Given the description of an element on the screen output the (x, y) to click on. 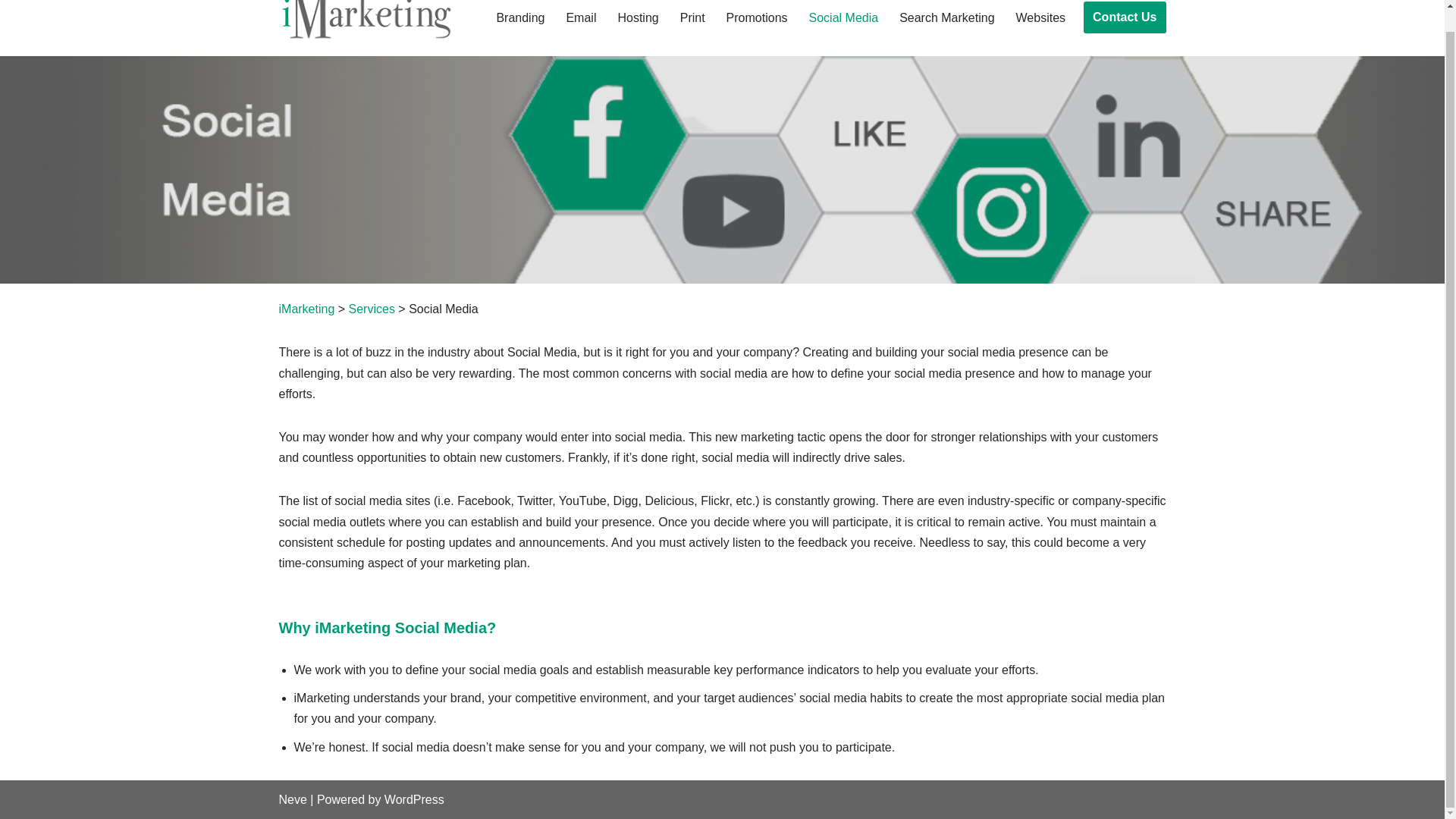
Websites (1040, 17)
Email (580, 17)
Search Marketing (946, 17)
Go to iMarketing. (306, 308)
Contact Us (1124, 17)
Print (691, 17)
Skip to content (11, 10)
Promotions (756, 17)
Services (371, 308)
Neve (293, 799)
